Given the description of an element on the screen output the (x, y) to click on. 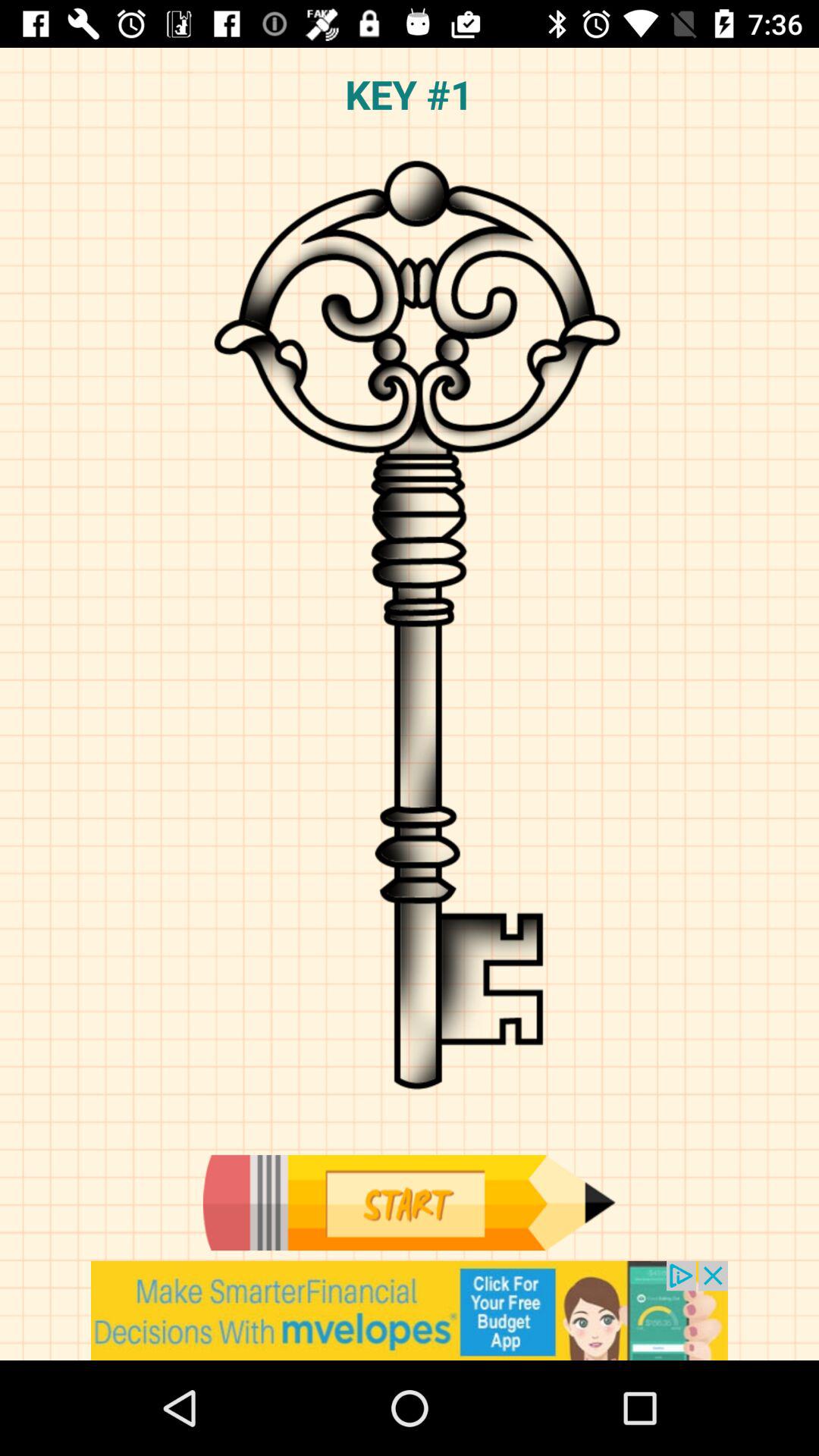
open advertisement (409, 1310)
